Given the description of an element on the screen output the (x, y) to click on. 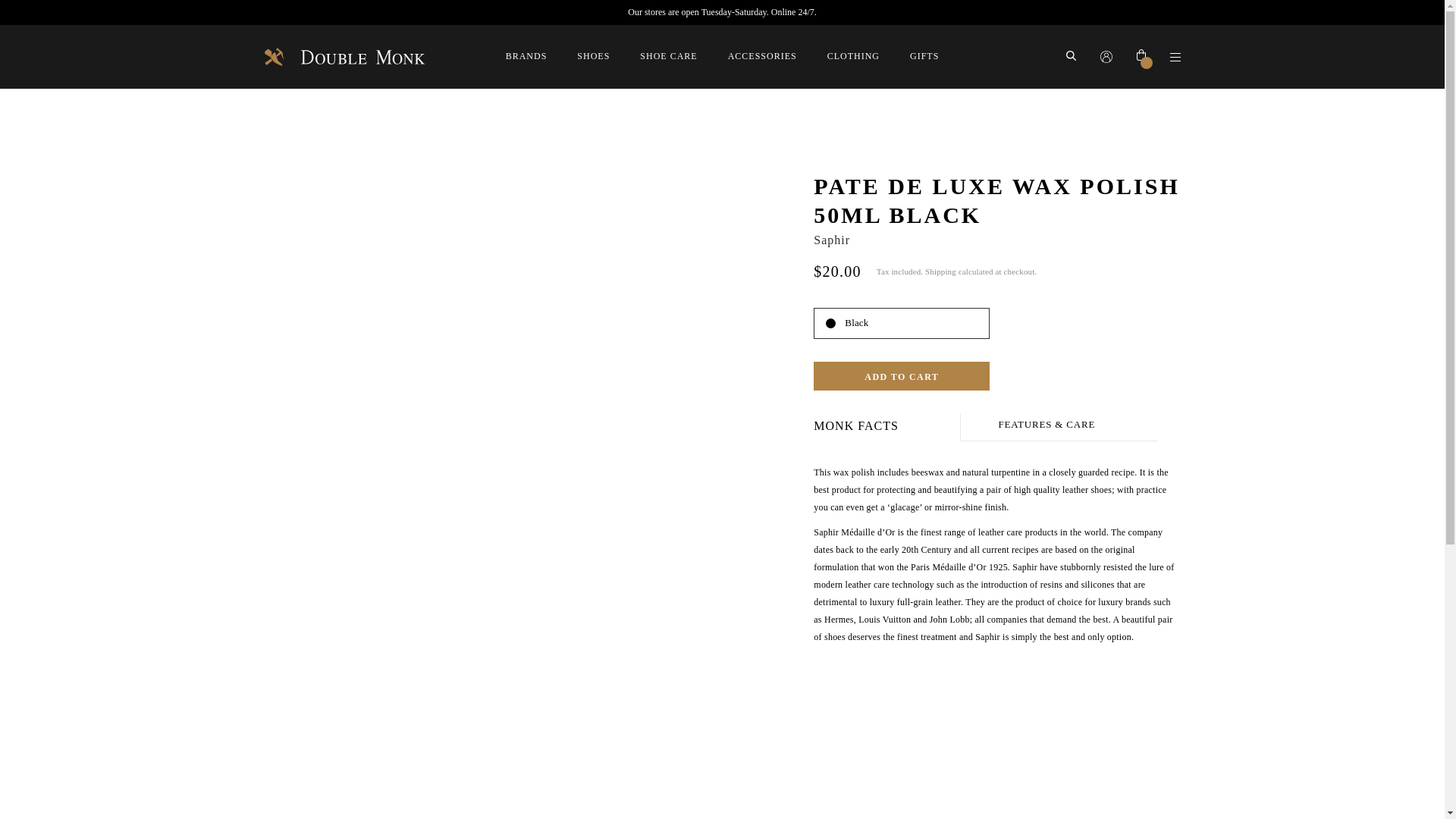
SHOES (593, 55)
ACCESSORIES (762, 55)
CLOTHING (853, 55)
GIFTS (924, 55)
BRANDS (526, 55)
SHOE CARE (668, 55)
Saphir (831, 239)
